Given the description of an element on the screen output the (x, y) to click on. 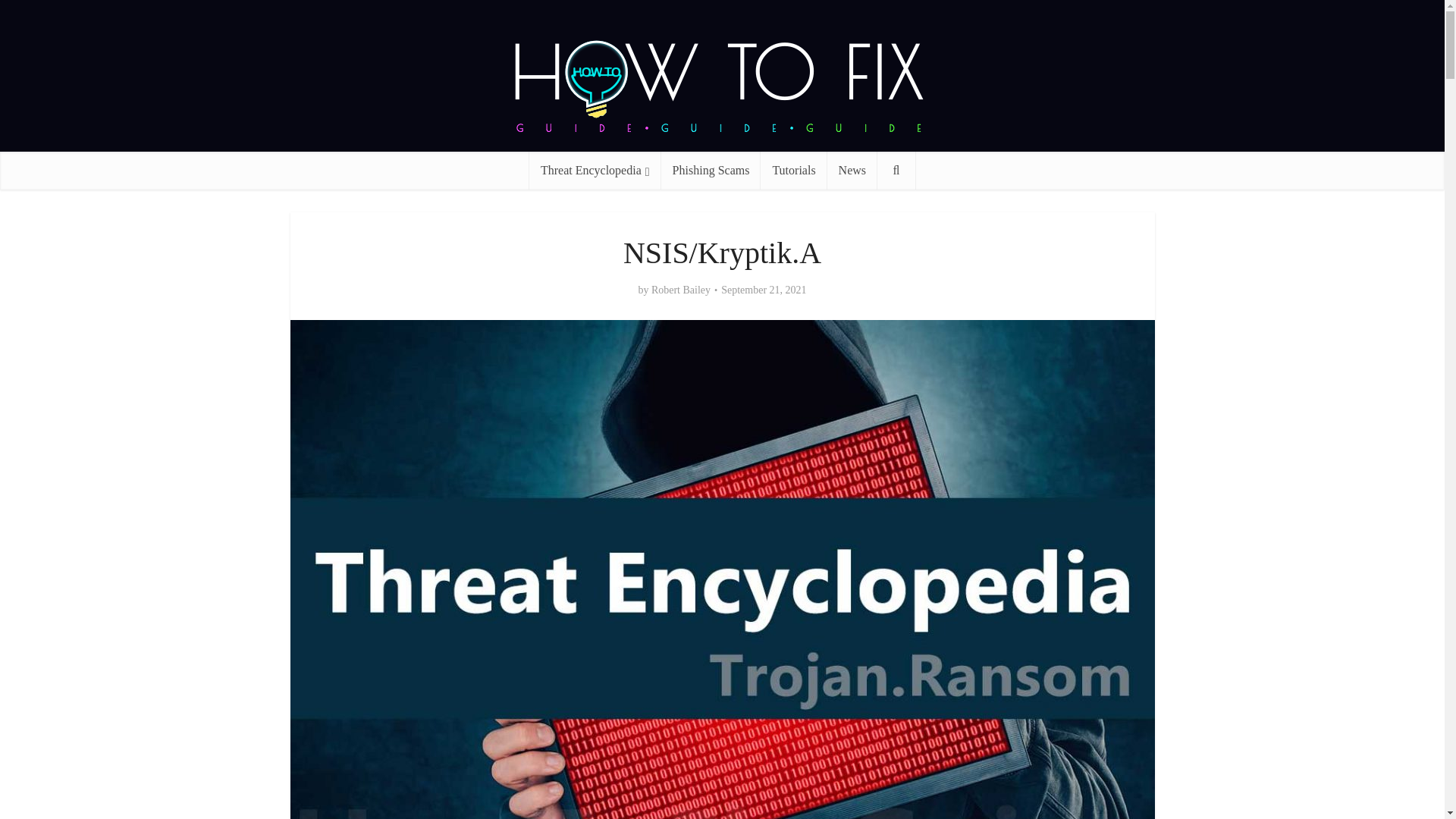
News (852, 170)
Tutorials (793, 170)
Phishing Scams (711, 170)
Threat Encyclopedia (595, 170)
Robert Bailey (680, 290)
